Given the description of an element on the screen output the (x, y) to click on. 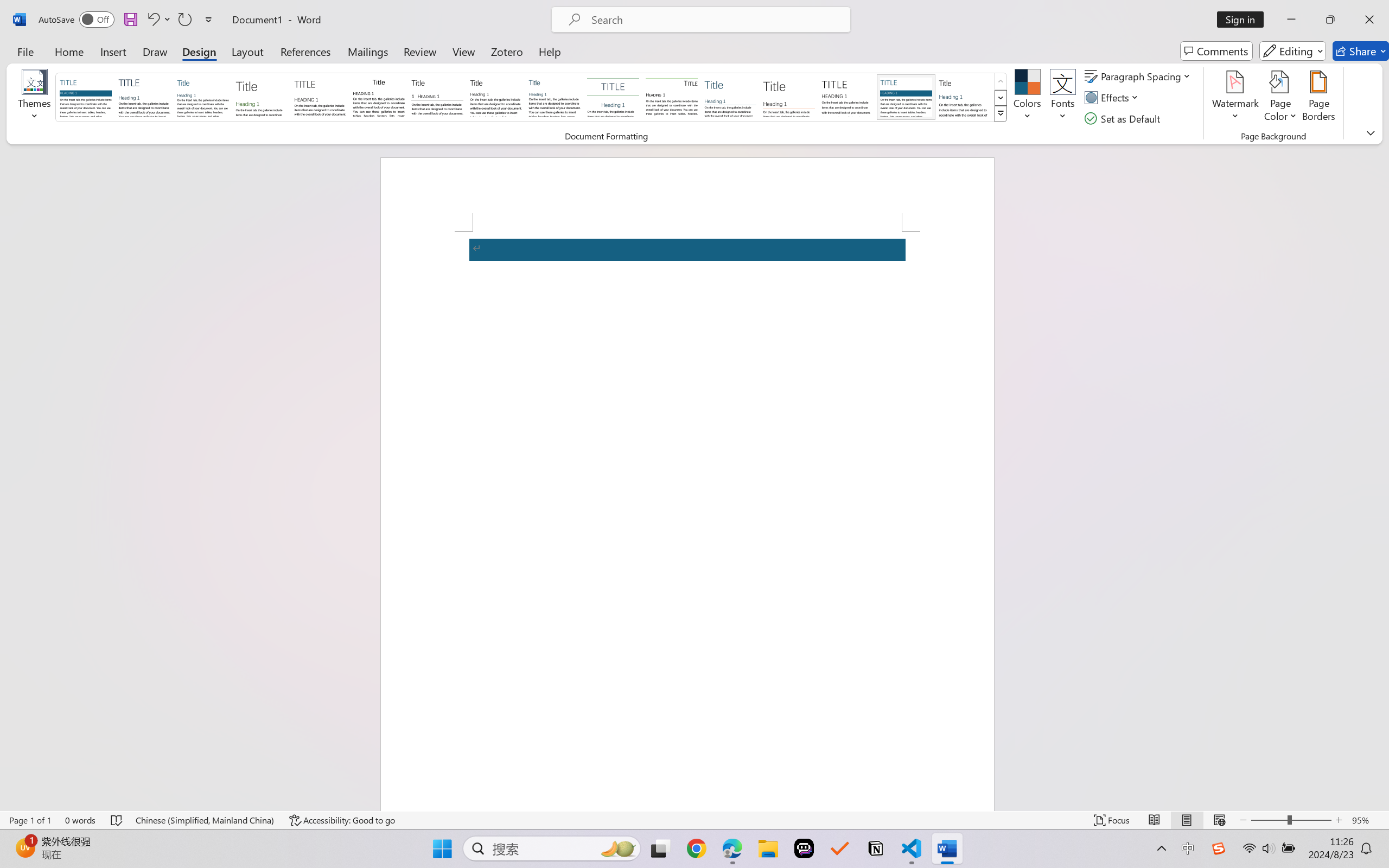
Set as Default (1124, 118)
Basic (Elegant) (144, 96)
